Given the description of an element on the screen output the (x, y) to click on. 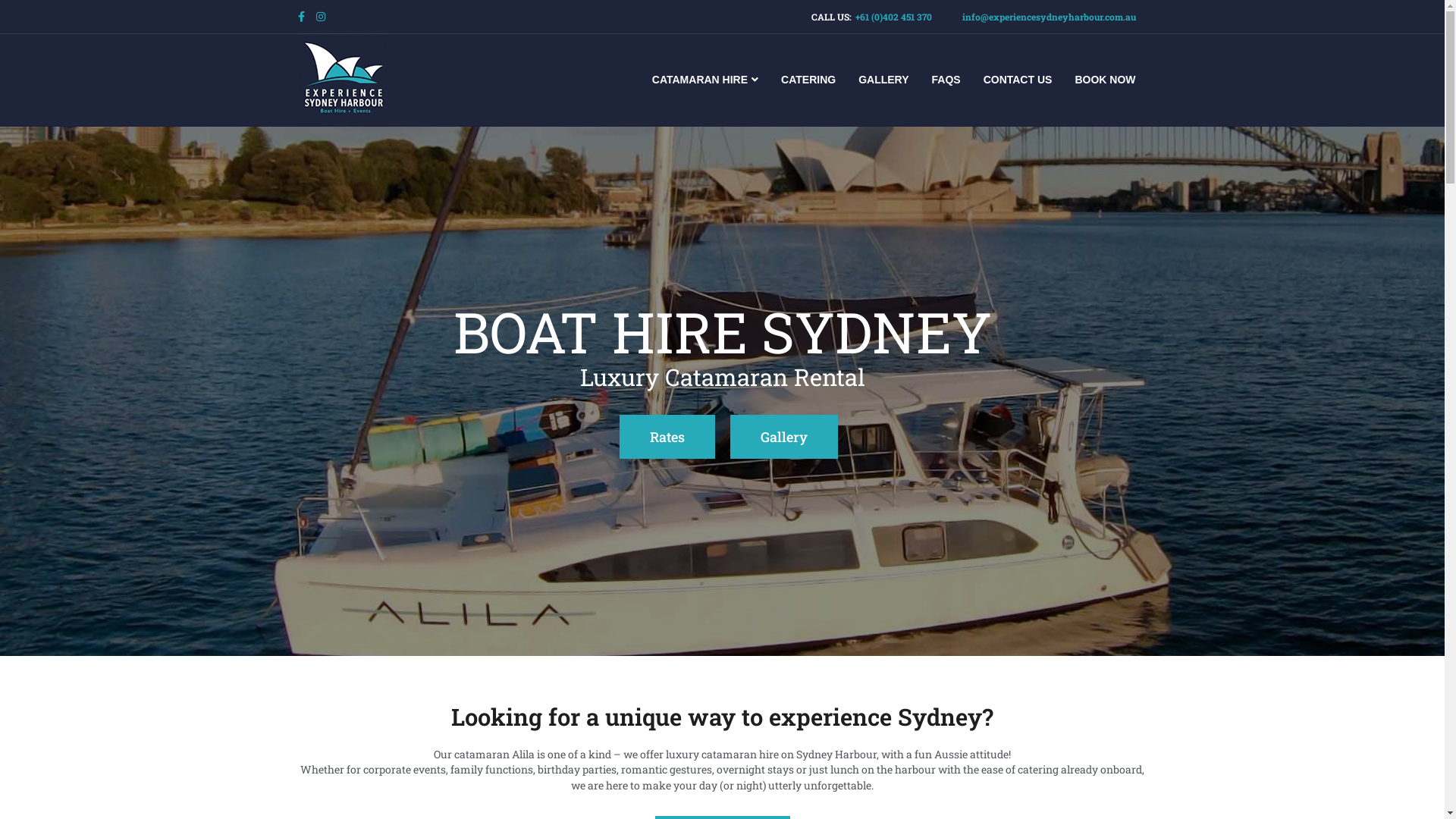
CATAMARAN HIRE Element type: text (704, 80)
+61 (0)402 451 370 Element type: text (892, 16)
GALLERY Element type: text (883, 80)
Gallery Element type: text (783, 436)
FAQS Element type: text (946, 80)
Instagram Element type: text (324, 15)
CATERING Element type: text (808, 80)
Facebook Element type: text (306, 15)
BOOK NOW Element type: text (1104, 80)
CONTACT US Element type: text (1017, 80)
Rates Element type: text (666, 436)
info@experiencesydneyharbour.com.au Element type: text (1048, 16)
